Given the description of an element on the screen output the (x, y) to click on. 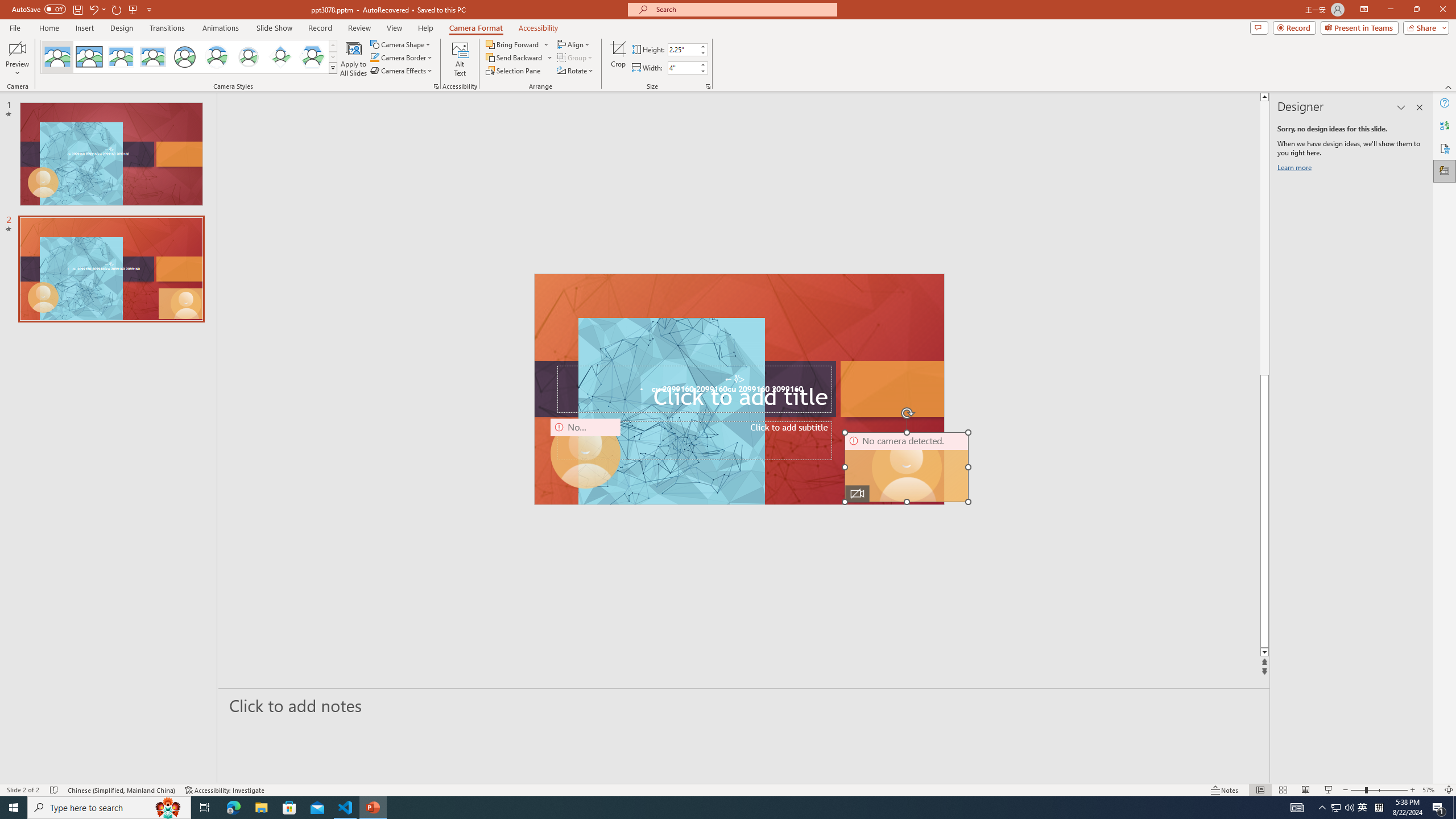
Subtitle TextBox (694, 440)
Title TextBox (694, 389)
Send Backward (514, 56)
Center Shadow Circle (216, 56)
Format Object... (435, 85)
TextBox 61 (737, 390)
